Given the description of an element on the screen output the (x, y) to click on. 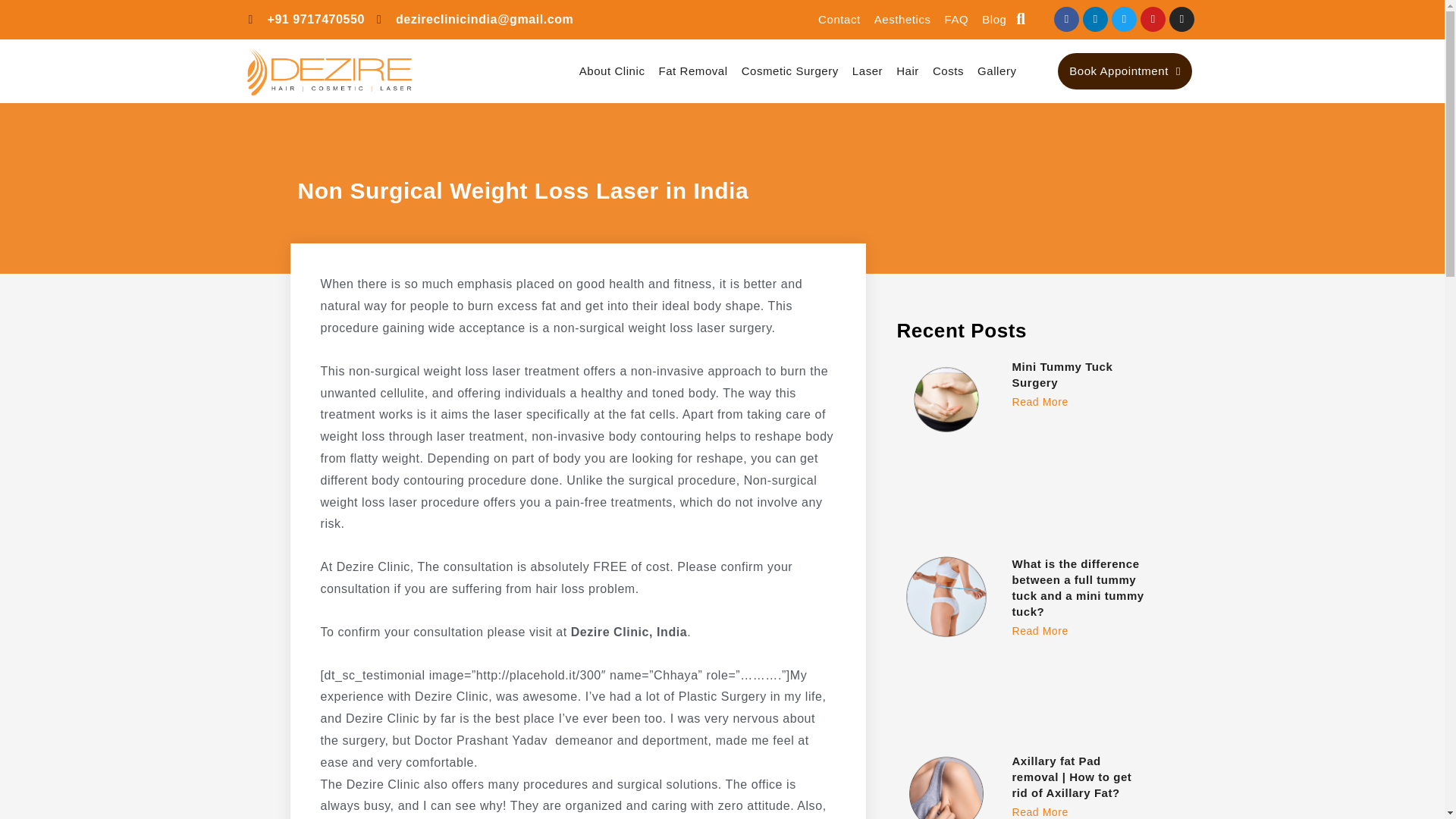
Contact (839, 19)
Aesthetics (903, 19)
